Given the description of an element on the screen output the (x, y) to click on. 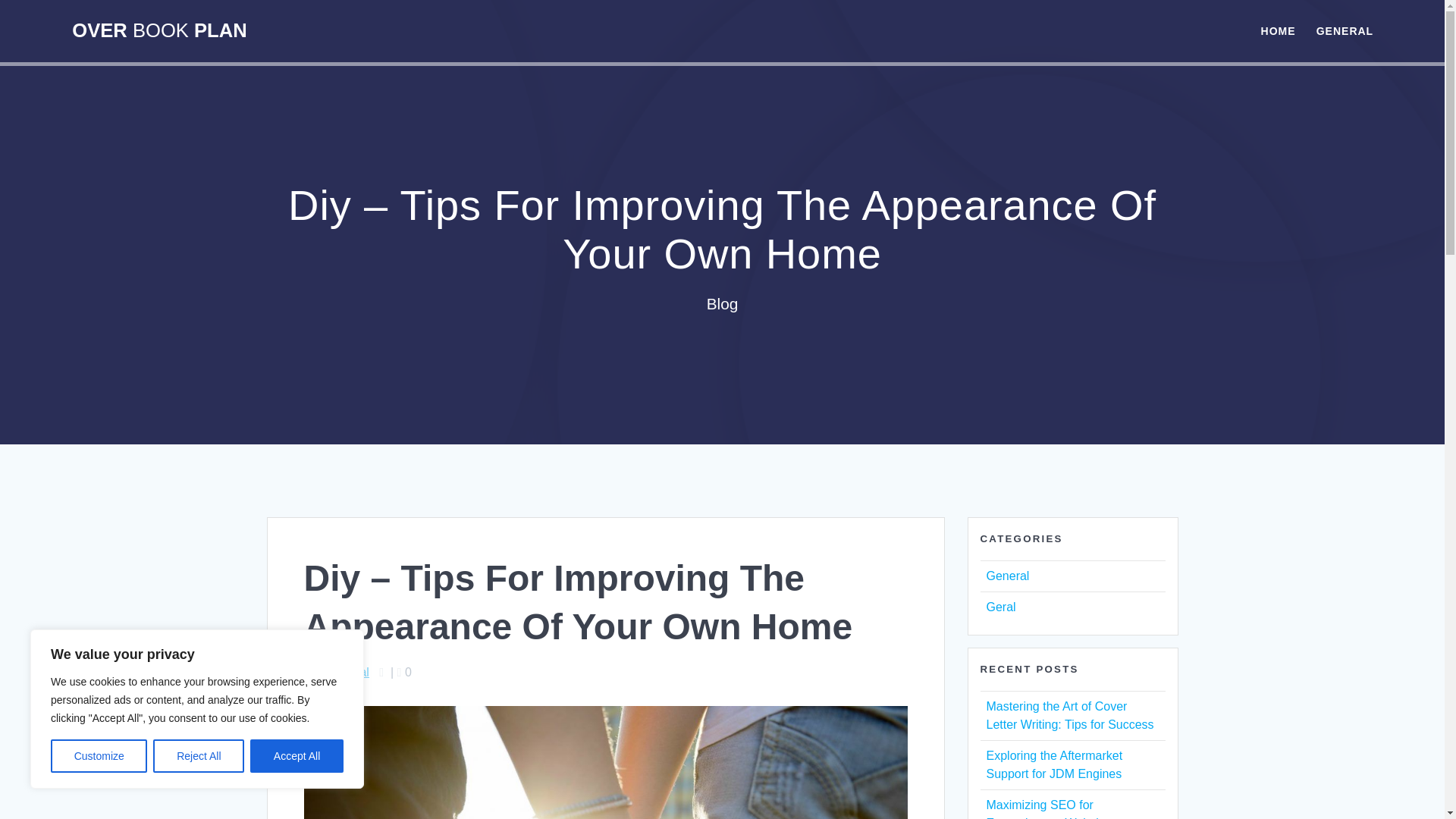
General (1007, 575)
Reject All (198, 756)
GENERAL (1344, 30)
Maximizing SEO for Entertainment Websites (1050, 808)
General (347, 671)
Geral (999, 606)
Accept All (296, 756)
Exploring the Aftermarket Support for JDM Engines (1053, 764)
Mastering the Art of Cover Letter Writing: Tips for Success (1069, 715)
HOME (1277, 30)
